Given the description of an element on the screen output the (x, y) to click on. 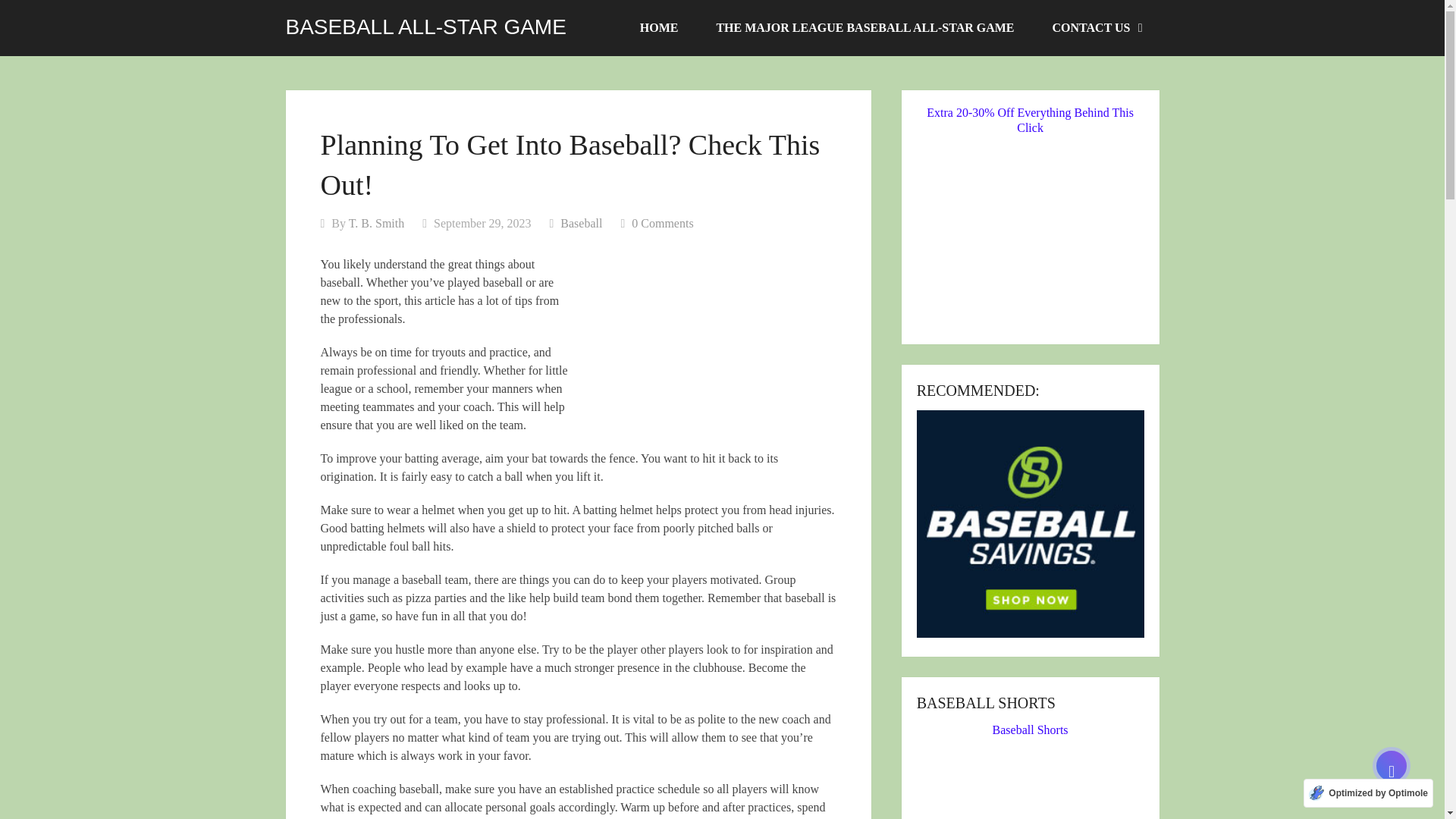
THE MAJOR LEAGUE BASEBALL ALL-STAR GAME (864, 28)
CONTACT US (1095, 28)
Baseball Shorts (1030, 771)
Posts by T. B. Smith (376, 223)
Optimized by Optimole (1367, 792)
0 Comments (662, 223)
T. B. Smith (376, 223)
BASEBALL ALL-STAR GAME (425, 26)
HOME (659, 28)
Baseball (581, 223)
